Given the description of an element on the screen output the (x, y) to click on. 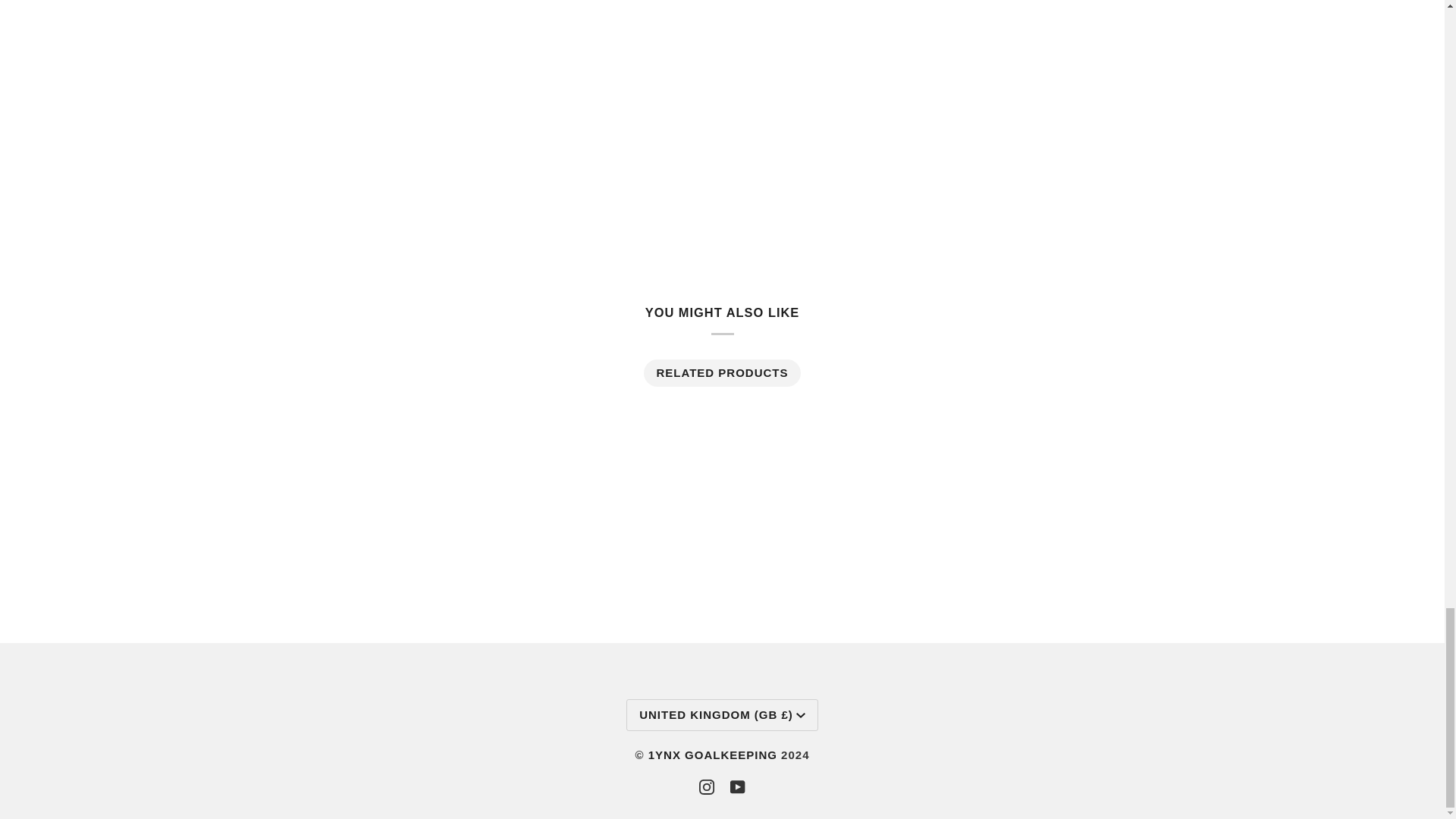
YouTube (737, 786)
RELATED PRODUCTS (721, 372)
Instagram (706, 786)
